Given the description of an element on the screen output the (x, y) to click on. 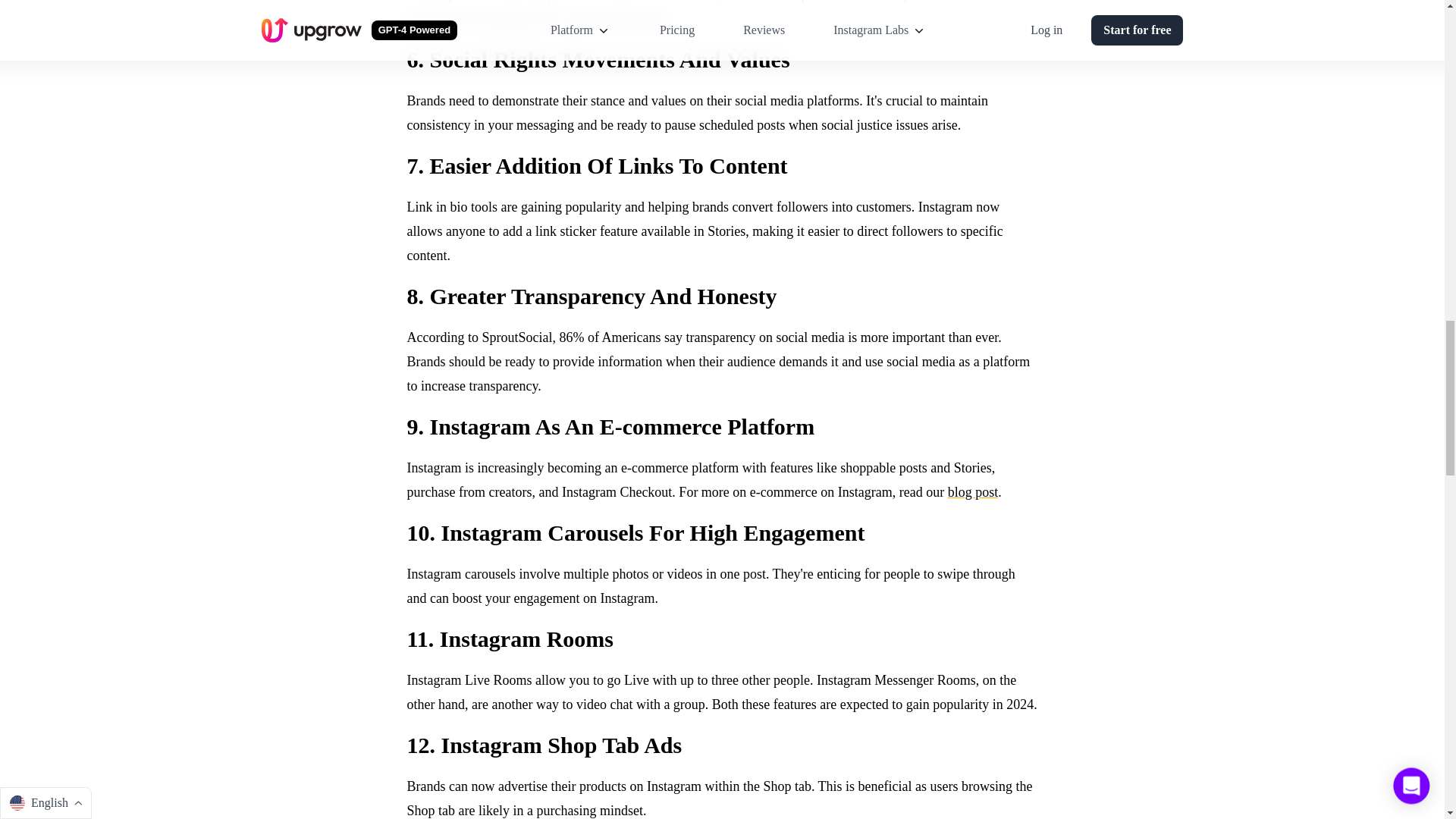
blog post (972, 491)
blog post (639, 18)
